Given the description of an element on the screen output the (x, y) to click on. 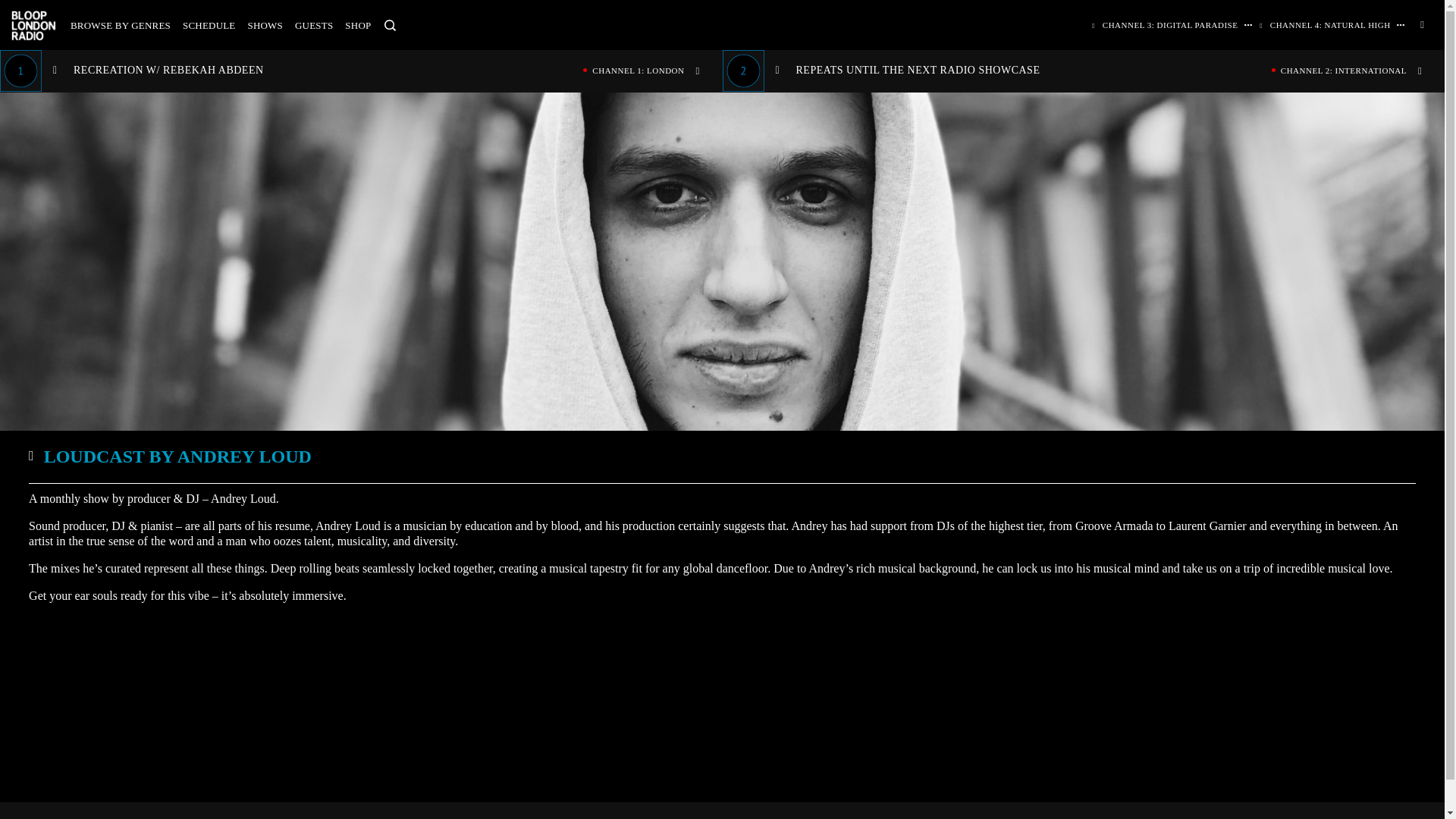
   CHANNEL 3: DIGITAL PARADISE (1166, 24)
BROWSE BY GENRES (120, 25)
SHOWS (265, 25)
SHOP (358, 25)
GUESTS (313, 25)
SCHEDULE (208, 25)
   CHANNEL 4: NATURAL HIGH (1326, 24)
